Given the description of an element on the screen output the (x, y) to click on. 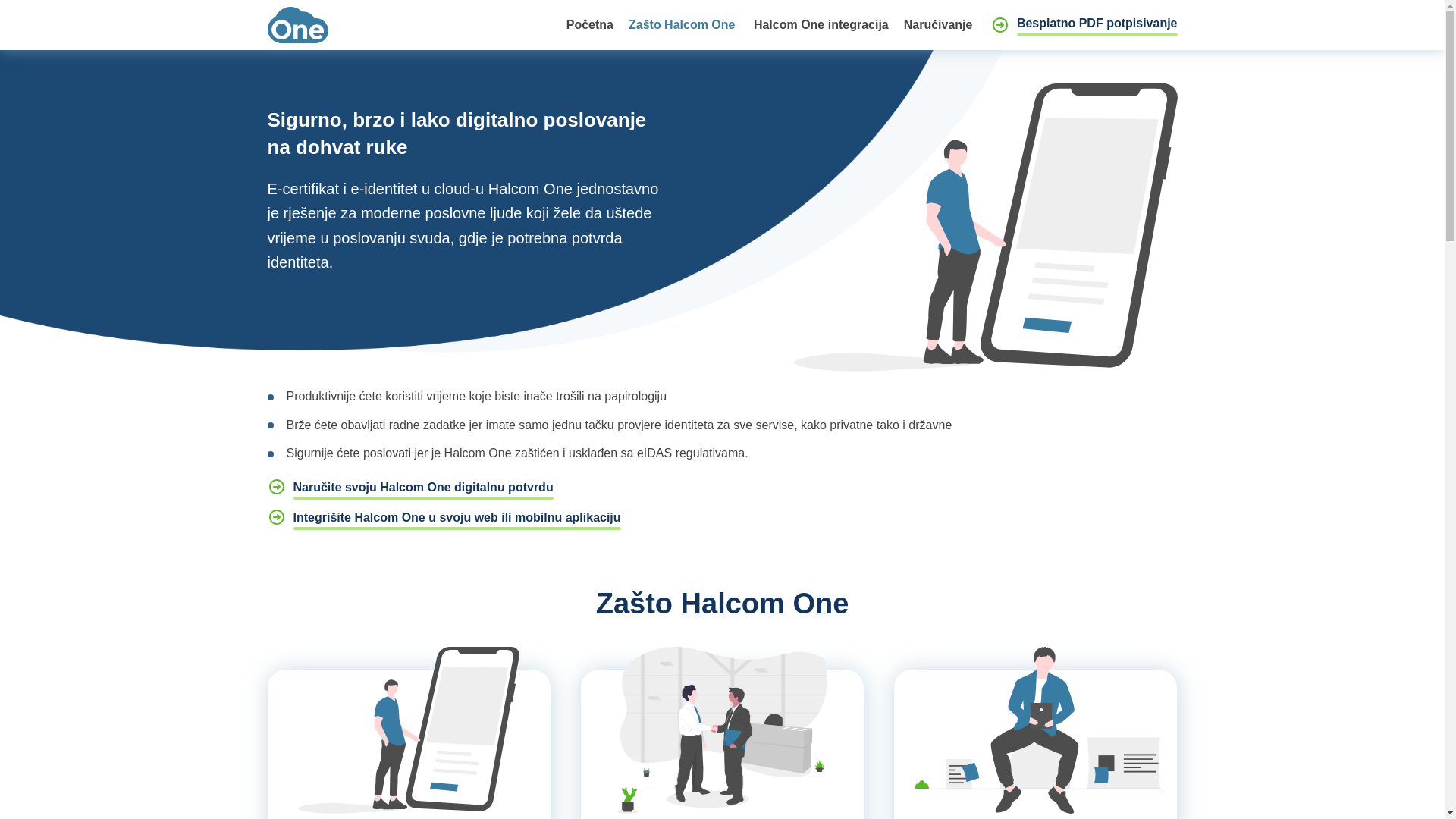
Besplatno PDF potpisivanje Element type: text (1084, 24)
Halcom One integracija Element type: text (820, 24)
